Given the description of an element on the screen output the (x, y) to click on. 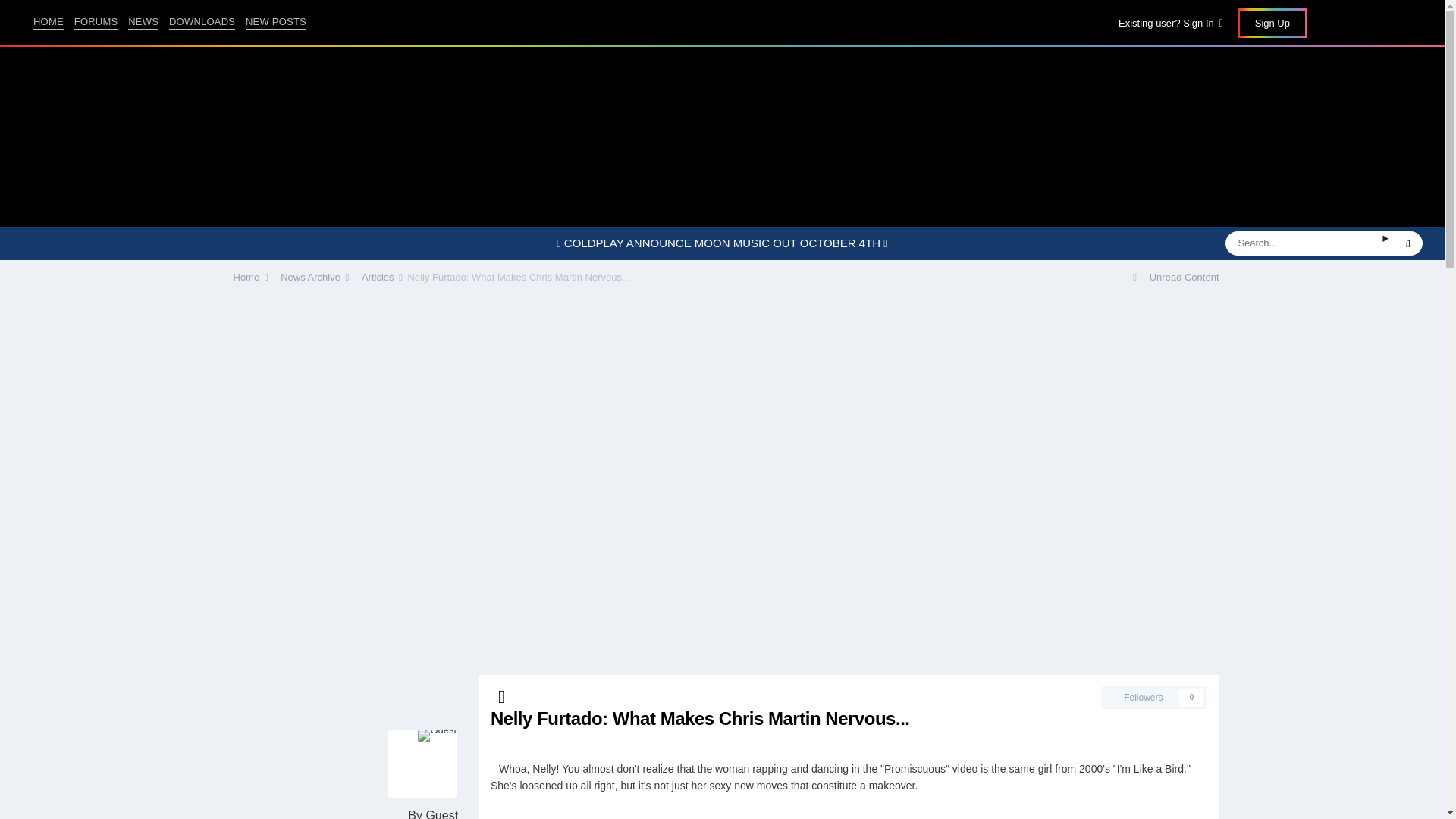
FORUMS (91, 21)
NEW POSTS (271, 21)
Existing user? Sign In   (1170, 22)
HOME (45, 21)
NEWS (139, 21)
Sign in to follow this (1154, 697)
DOWNLOADS (197, 21)
Unread Content (1174, 276)
News Archive (311, 276)
COLDPLAY (721, 21)
Home (247, 276)
Articles (1154, 697)
Sign Up (378, 276)
Home (1272, 22)
